Given the description of an element on the screen output the (x, y) to click on. 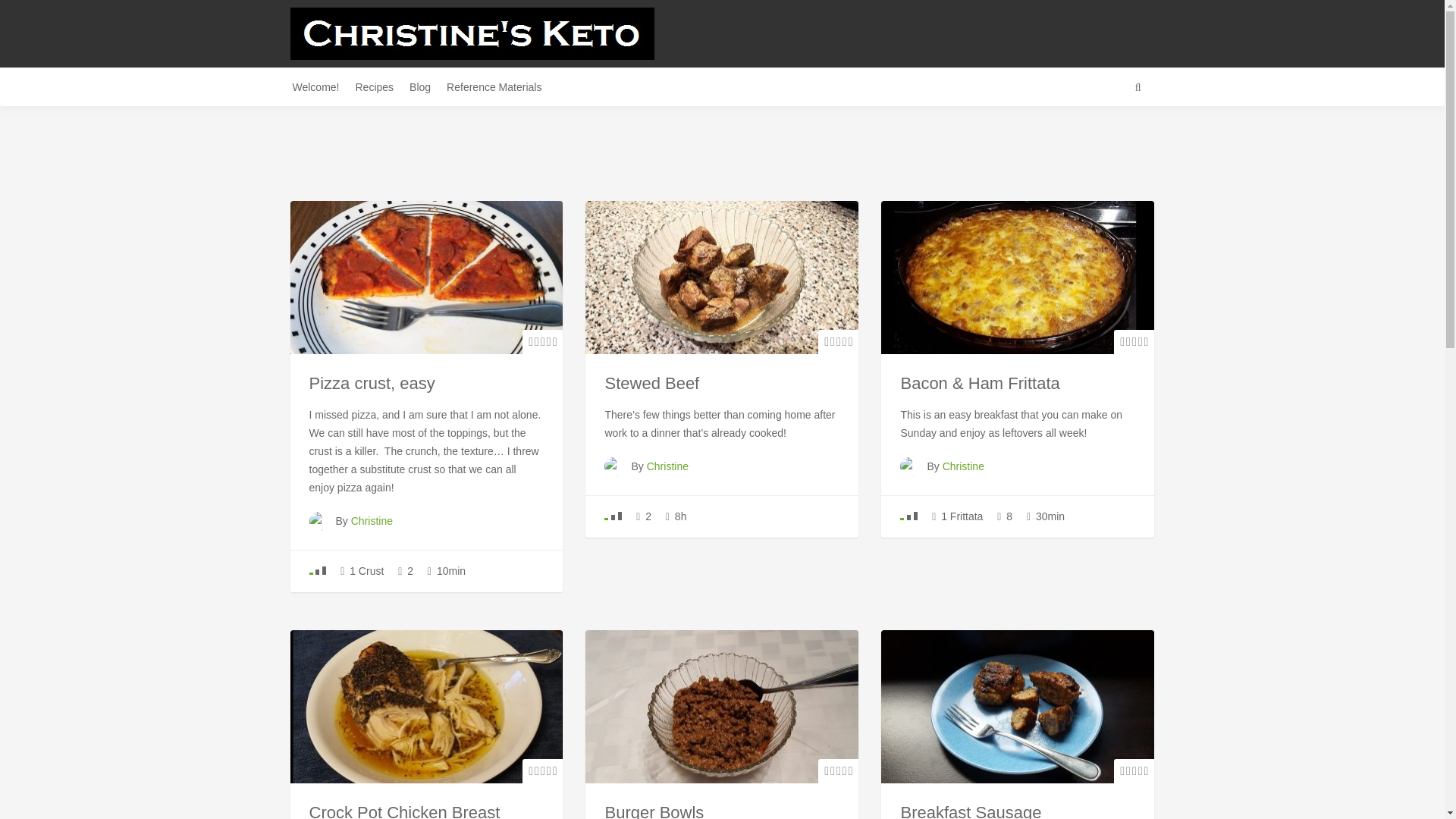
Christine (667, 466)
Crock Pot Chicken Breast (404, 810)
Christine (371, 521)
Christine (963, 466)
Welcome! (321, 86)
Pizza crust, easy (371, 383)
Recipes (379, 86)
Stewed Beef (651, 383)
Burger Bowls (653, 810)
Reference Materials (499, 86)
Breakfast Sausage (970, 810)
